Given the description of an element on the screen output the (x, y) to click on. 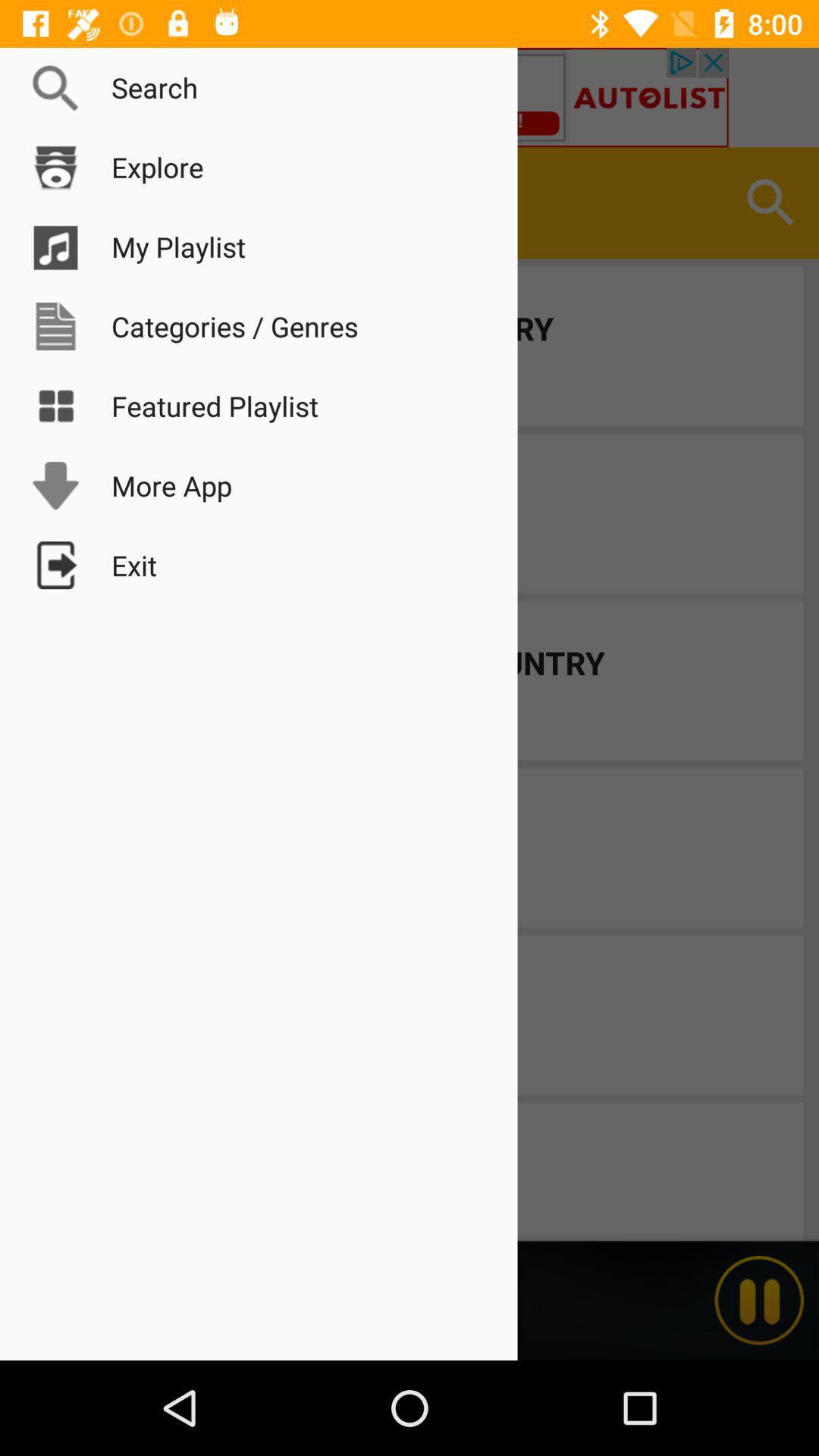
click on the search button at the right corner of the page (771, 202)
